Given the description of an element on the screen output the (x, y) to click on. 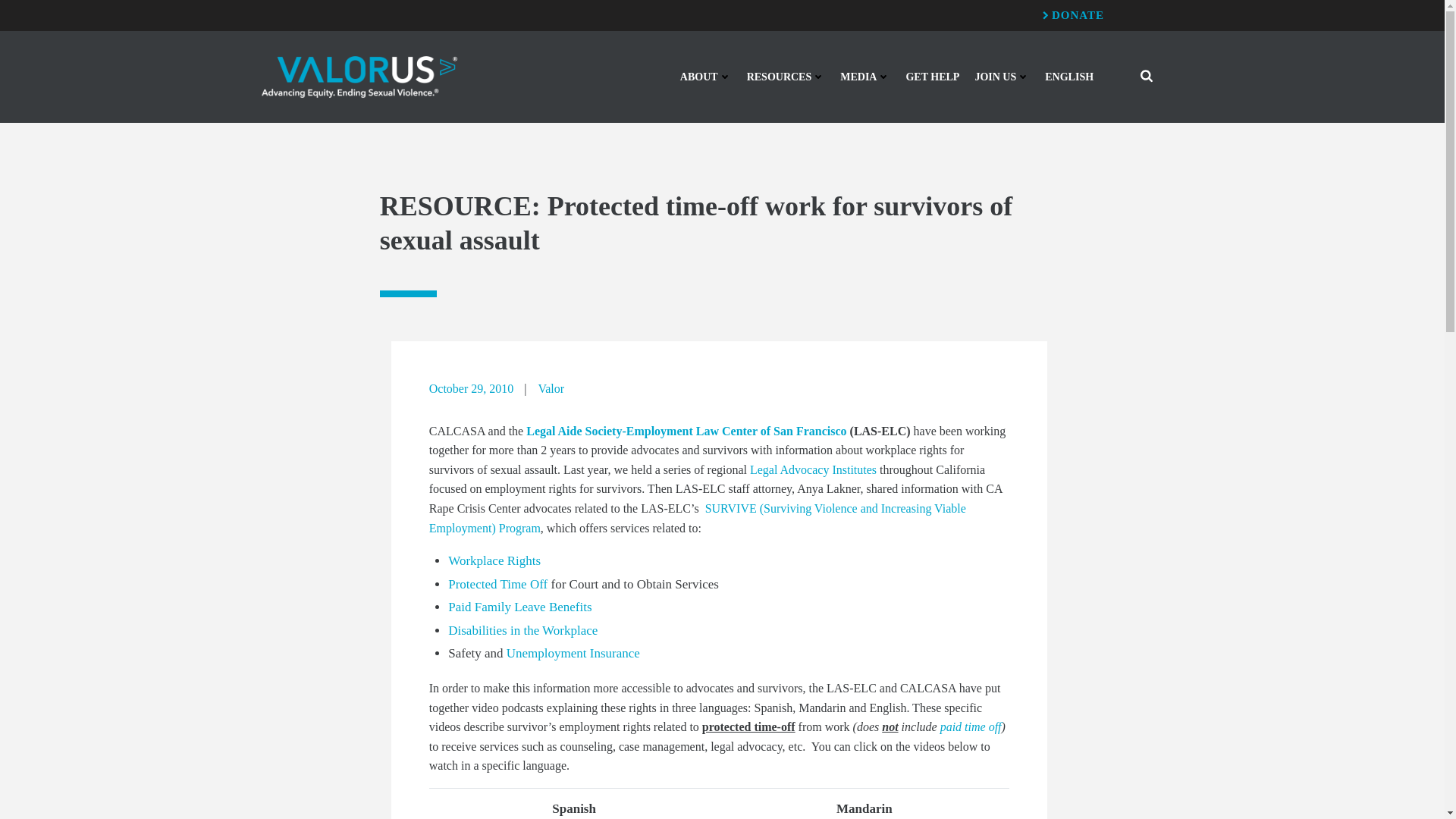
RESOURCES (785, 76)
JOIN US (1001, 76)
ENGLISH (1069, 76)
GET HELP (932, 76)
ABOUT (705, 76)
MEDIA (864, 76)
DONATE (1072, 15)
